Given the description of an element on the screen output the (x, y) to click on. 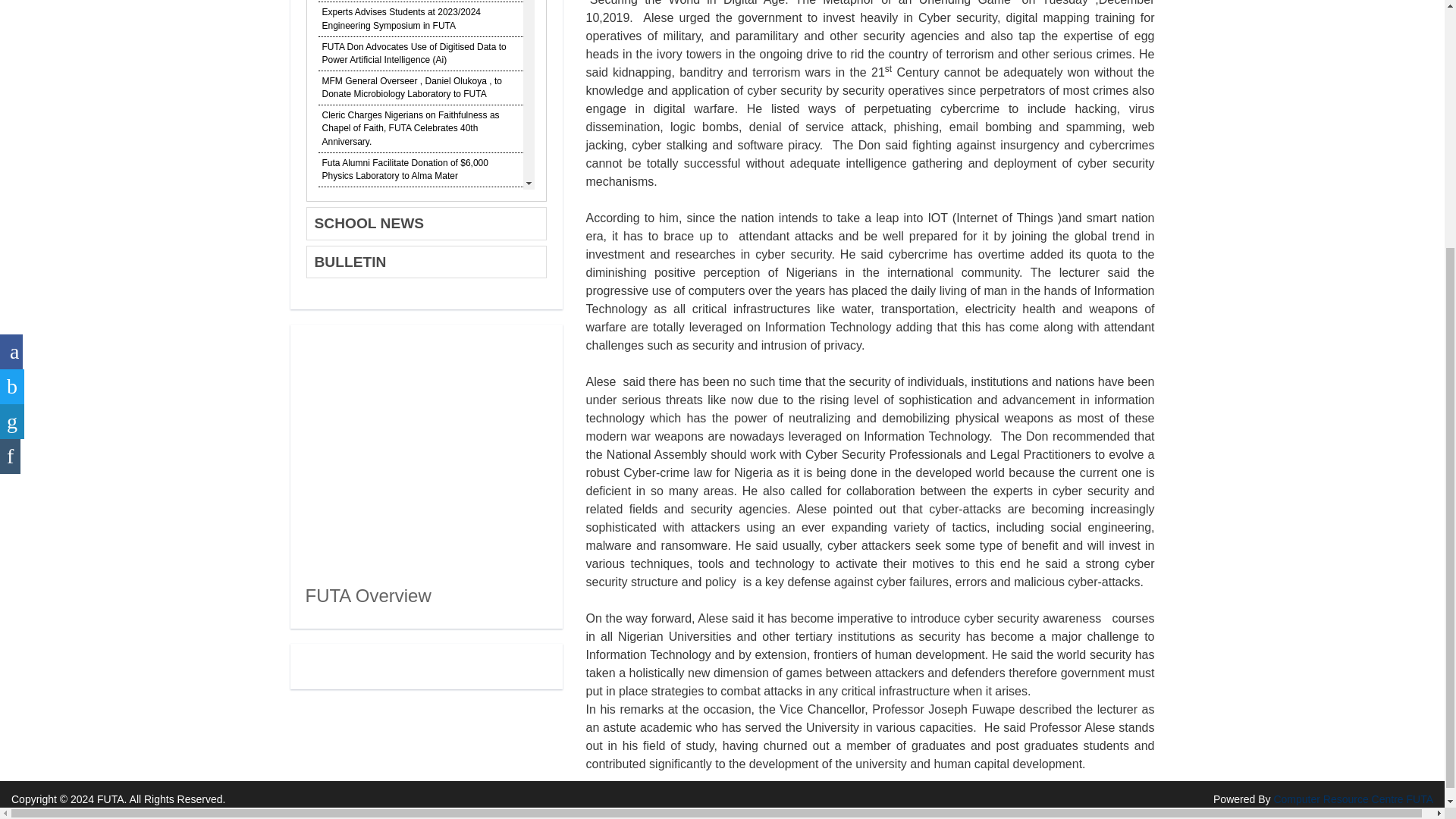
Women Doctors Moot Collaboration with FUTA  (415, 244)
FUTA Department of Cyber Security PG Addmission Advert (401, 594)
FUTA Open and Distance Learning Centre Addmission Advert (406, 490)
